Given the description of an element on the screen output the (x, y) to click on. 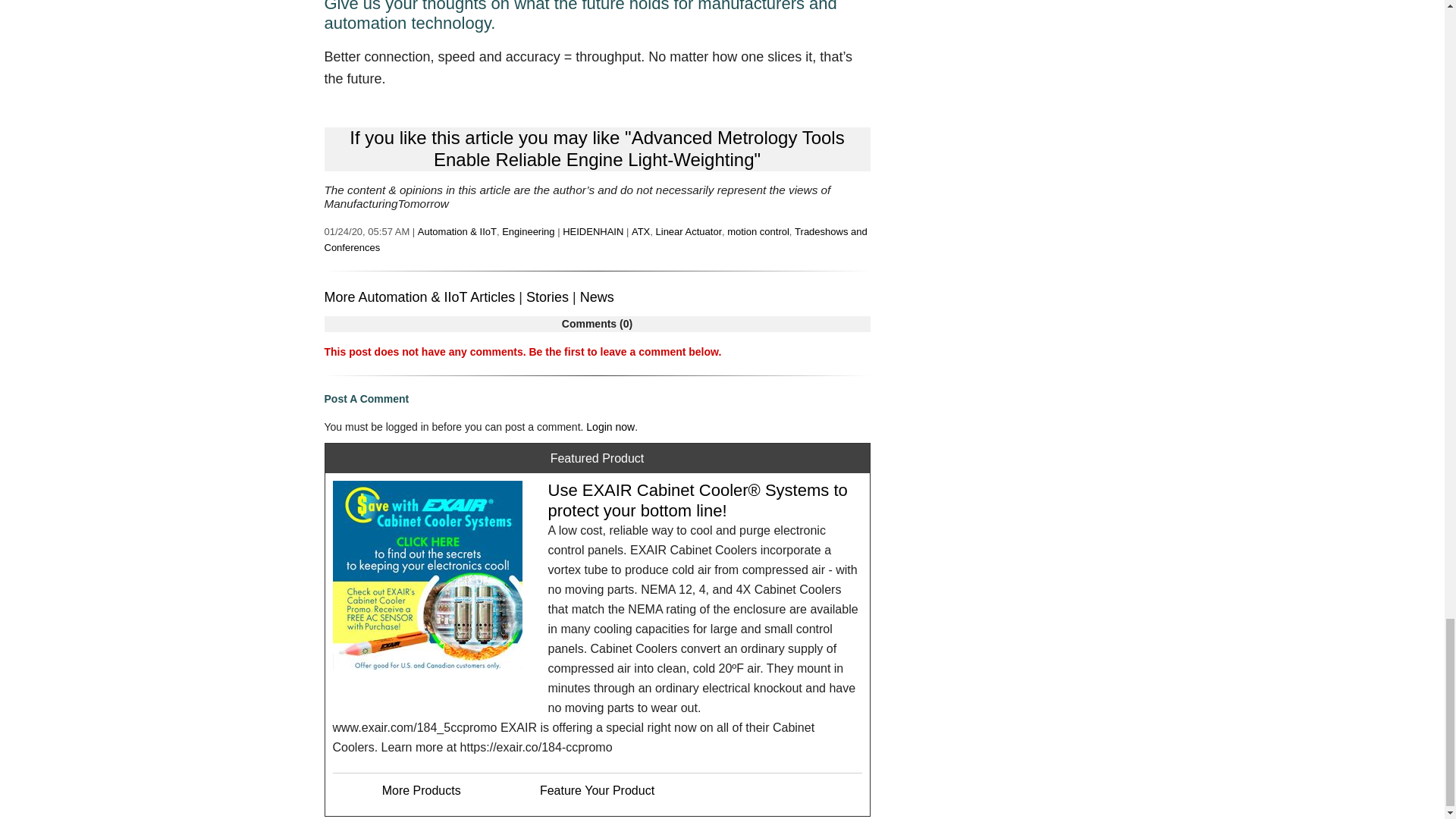
Engineering (528, 231)
HEIDENHAIN (592, 231)
Linear Actuator (689, 231)
motion control (757, 231)
Stories (547, 296)
News (596, 296)
Tradeshows and Conferences (595, 239)
ATX (640, 231)
